Given the description of an element on the screen output the (x, y) to click on. 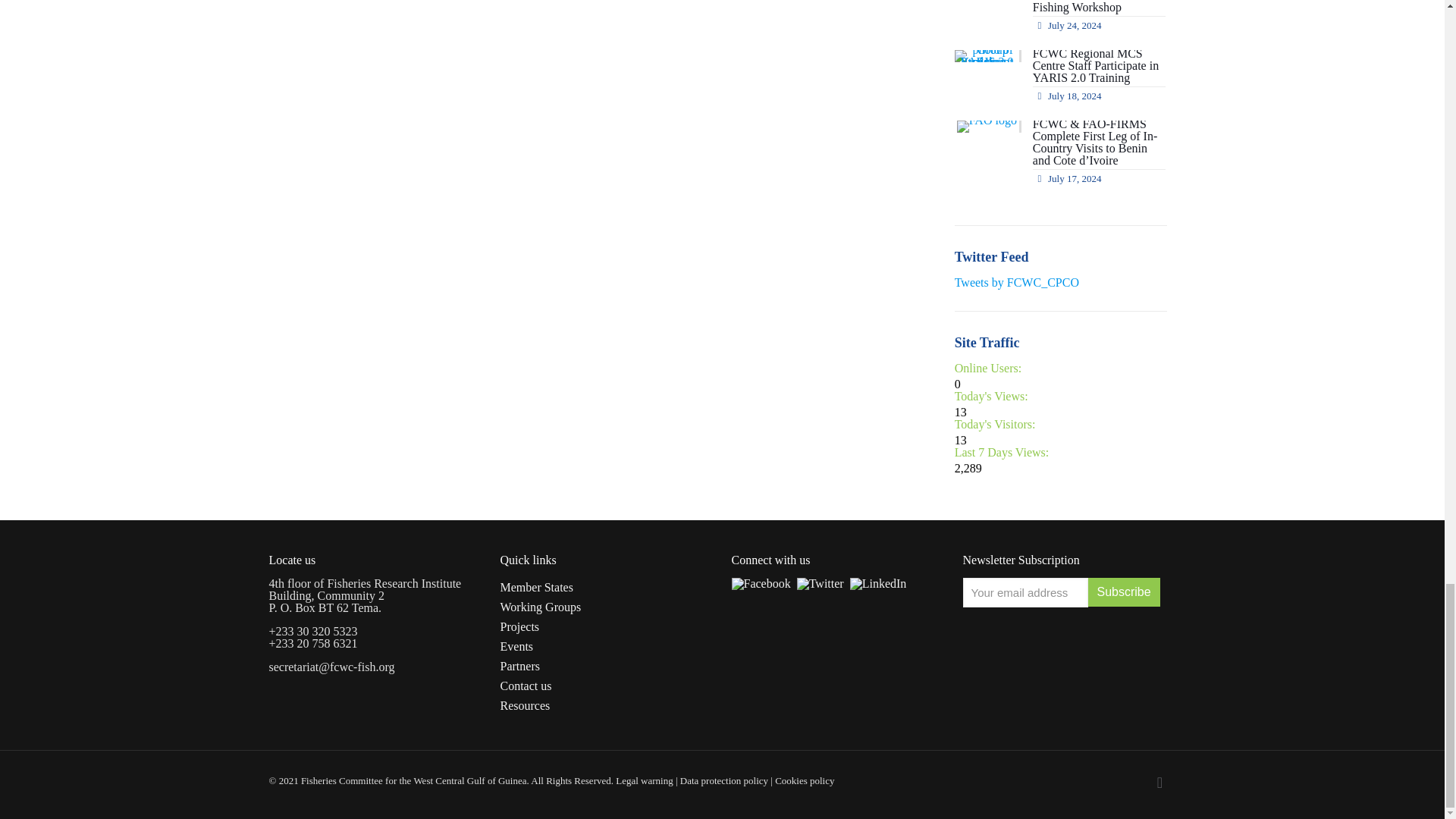
Subscribe (1122, 592)
